Given the description of an element on the screen output the (x, y) to click on. 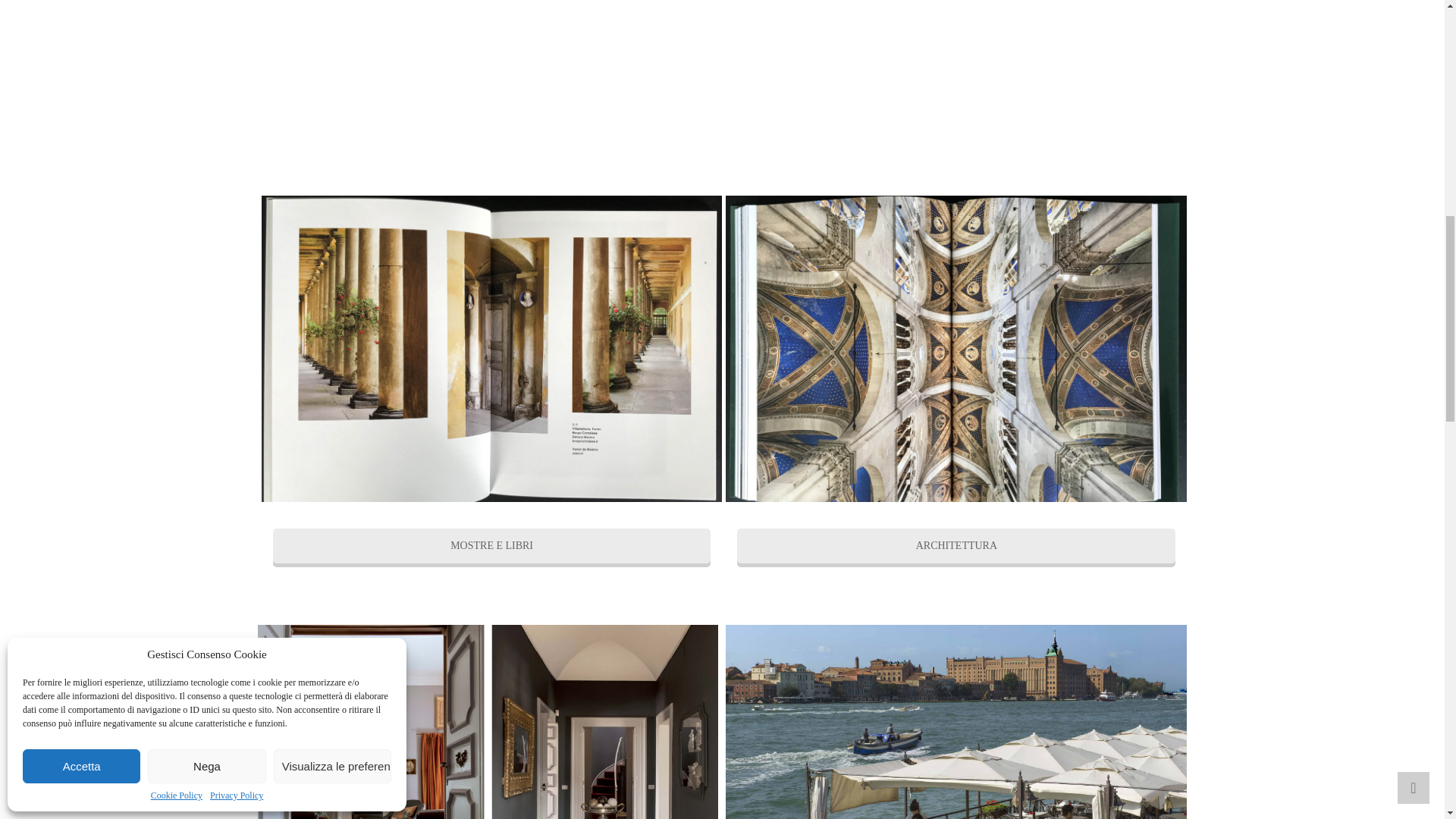
ARCHITETTURA (955, 545)
MOSTRE E LIBRI (492, 545)
